Given the description of an element on the screen output the (x, y) to click on. 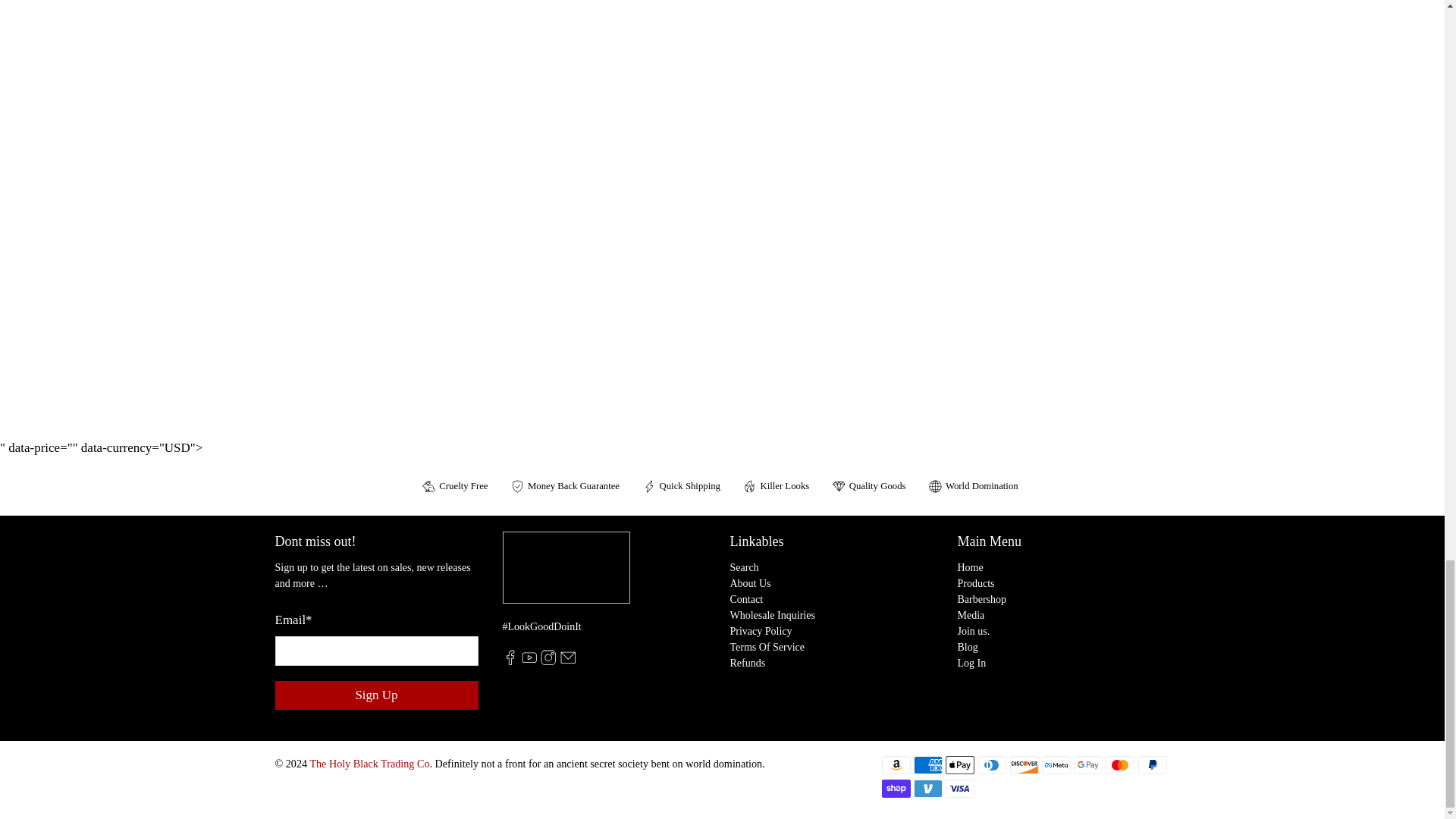
Discover (1024, 764)
Email The Holy Black Trading Co (567, 661)
The Holy Black Trading Co on Instagram (548, 661)
Apple Pay (959, 764)
The Holy Black Trading Co on YouTube (529, 661)
American Express (928, 764)
Diners Club (991, 764)
The Holy Black Trading Co on Facebook (509, 661)
Amazon (895, 764)
The Holy Black Trading Co (565, 575)
